Given the description of an element on the screen output the (x, y) to click on. 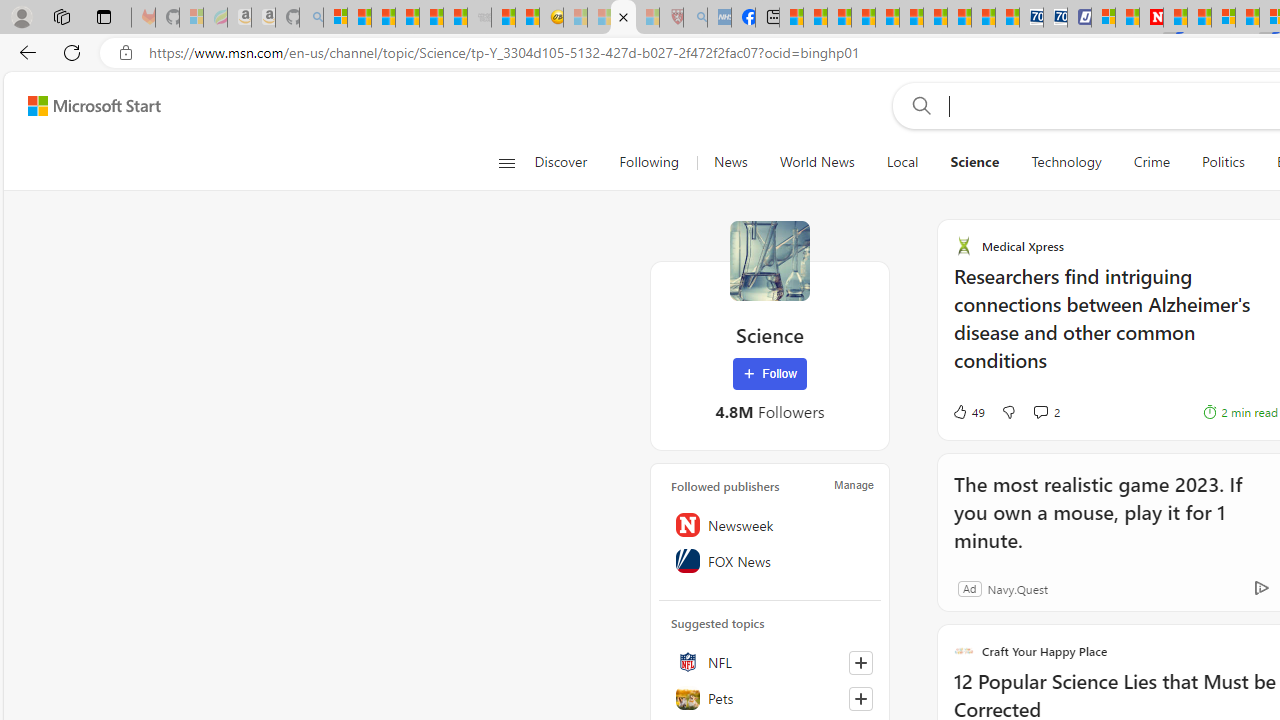
14 Common Myths Debunked By Scientific Facts (1198, 17)
New Report Confirms 2023 Was Record Hot | Watch (430, 17)
